Given the description of an element on the screen output the (x, y) to click on. 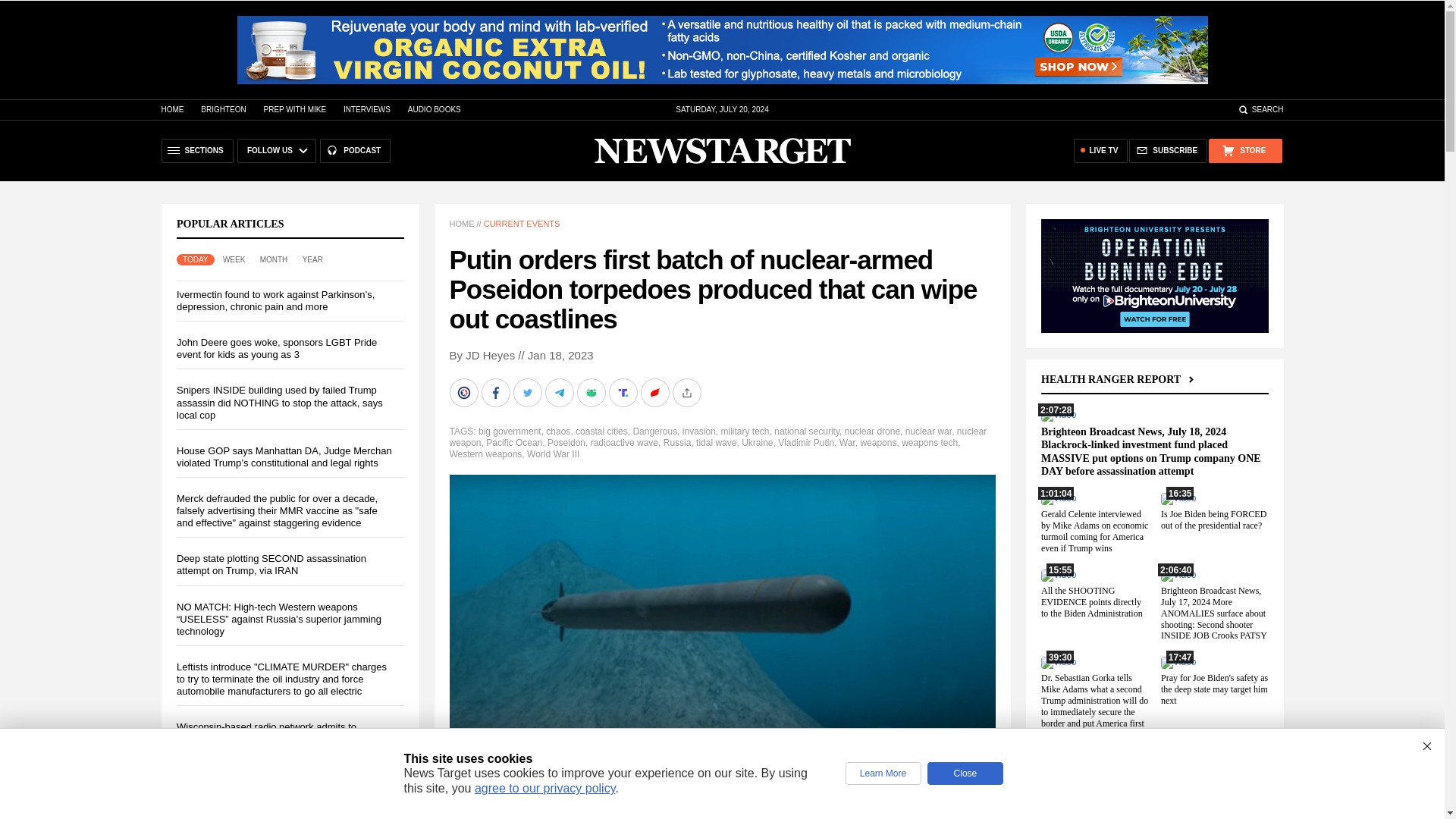
Share on Truth.Social (624, 392)
PREP WITH MIKE (294, 109)
Share on Brighteon.Social (464, 392)
SEARCH (1260, 109)
Share on Telegram (560, 392)
Search (1260, 109)
Share on Gettr (655, 392)
BRIGHTEON (223, 109)
AUDIO BOOKS (434, 109)
Share on Facebook (496, 392)
SUBSCRIBE (1168, 150)
Share on Twitter (528, 392)
